Given the description of an element on the screen output the (x, y) to click on. 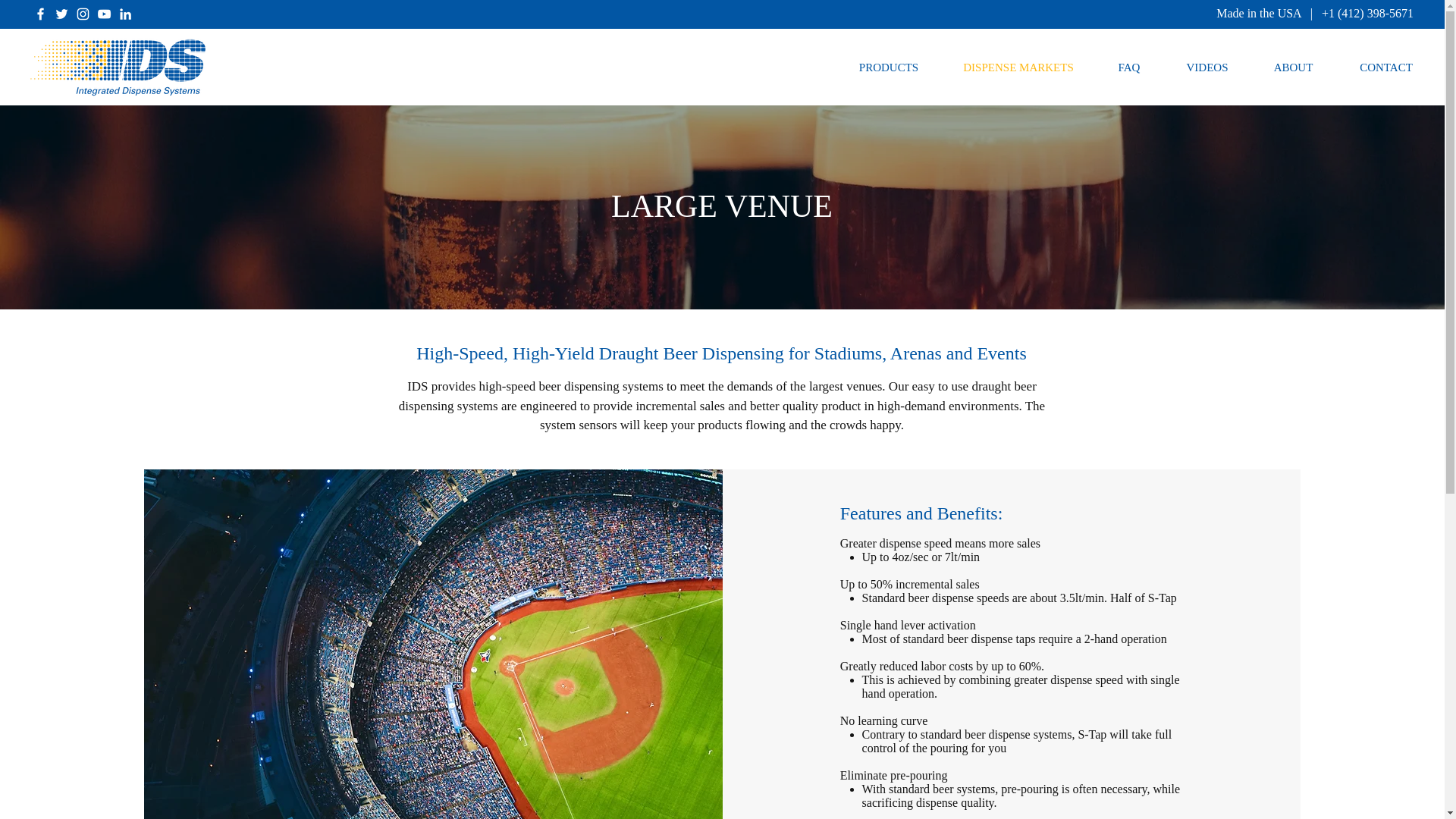
CONTACT (1385, 67)
ABOUT (1293, 67)
FAQ (1128, 67)
DISPENSE MARKETS (1018, 67)
VIDEOS (1206, 67)
